Given the description of an element on the screen output the (x, y) to click on. 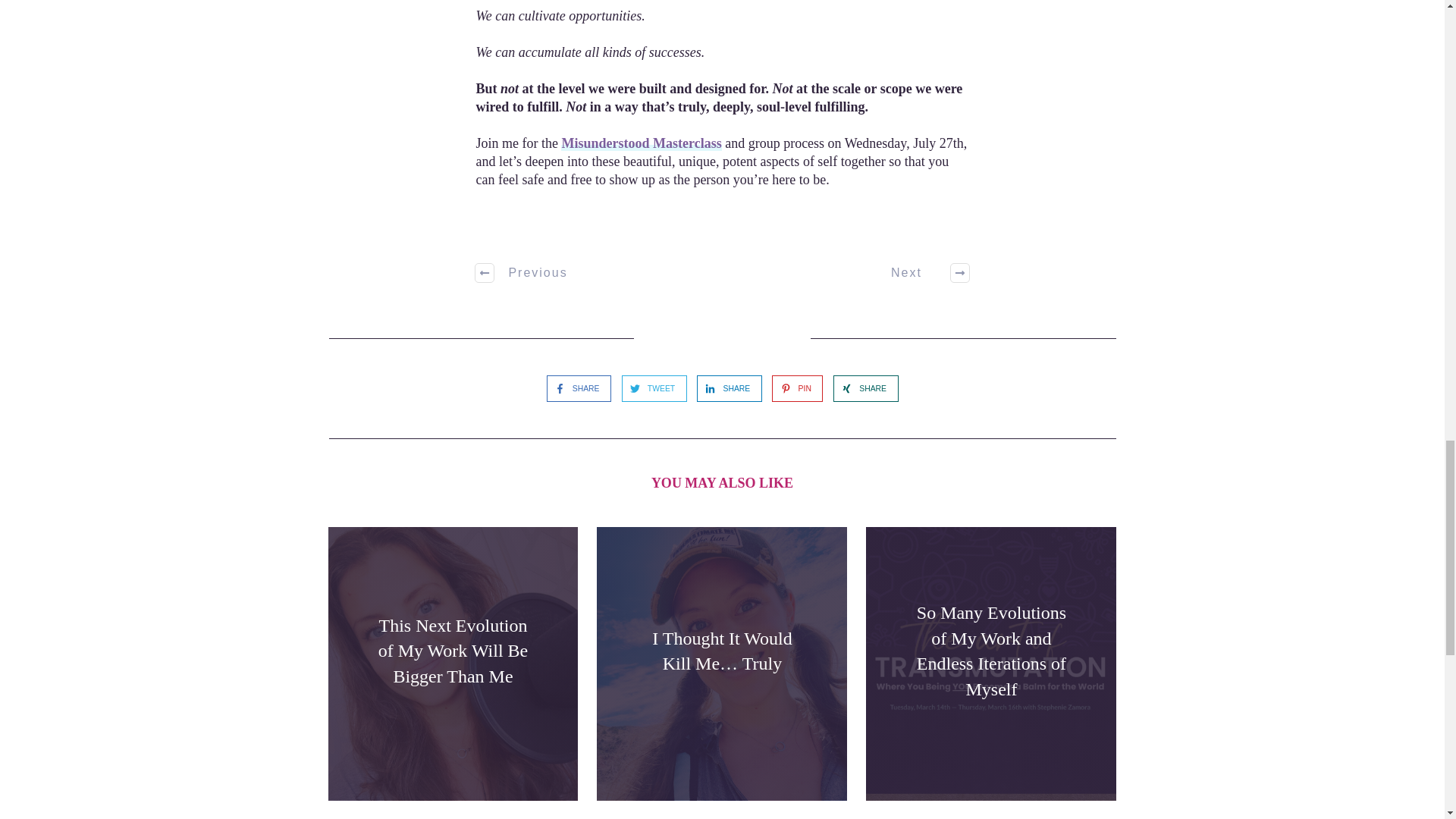
This Next Evolution of My Work Will Be Bigger Than Me (453, 650)
paint-dots (722, 436)
cactus (728, 338)
love-me (532, 222)
